Given the description of an element on the screen output the (x, y) to click on. 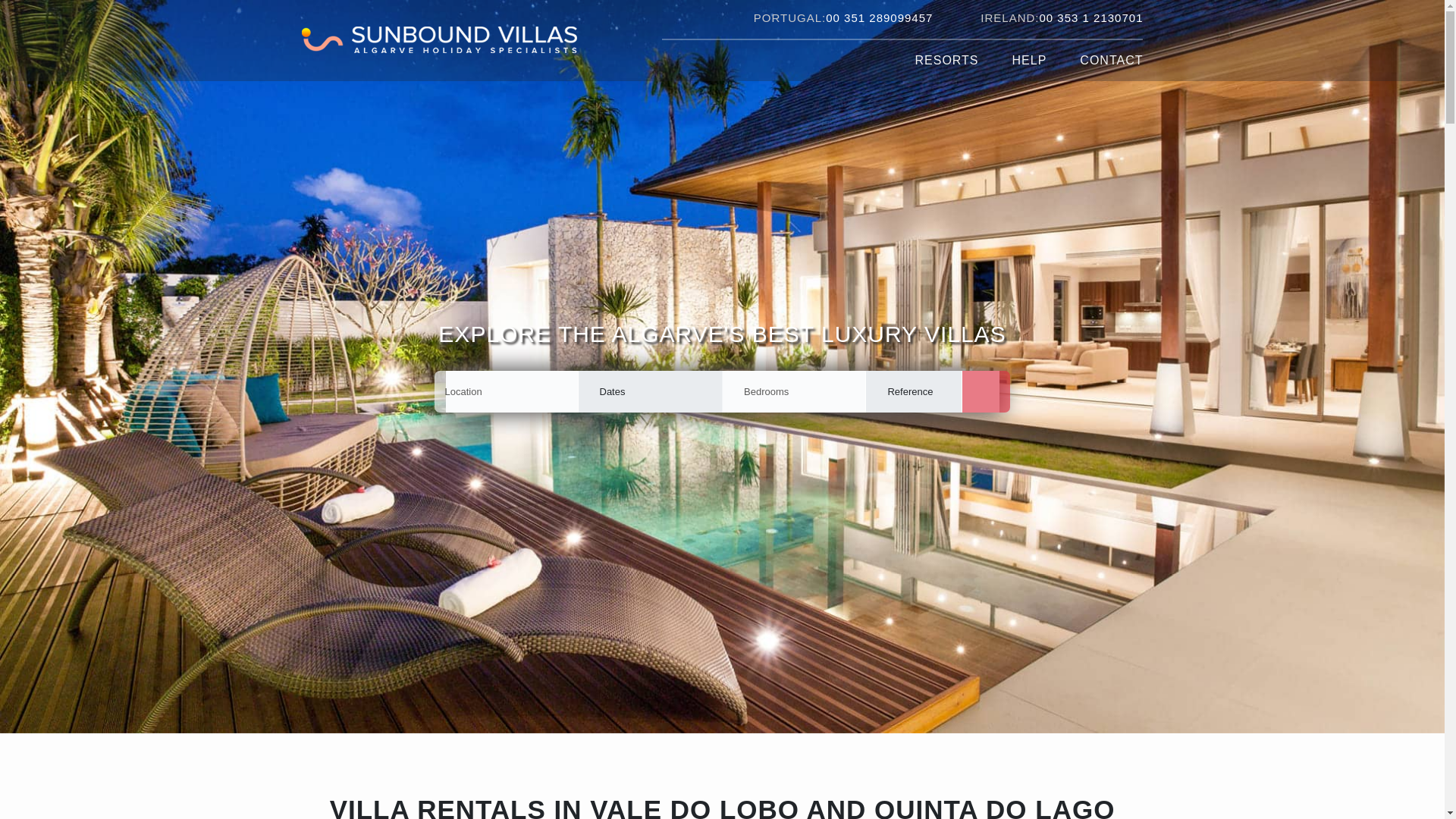
HELP (1029, 60)
Bedrooms (793, 391)
Location (504, 391)
CONTACT (1102, 60)
RESORTS (946, 60)
